Given the description of an element on the screen output the (x, y) to click on. 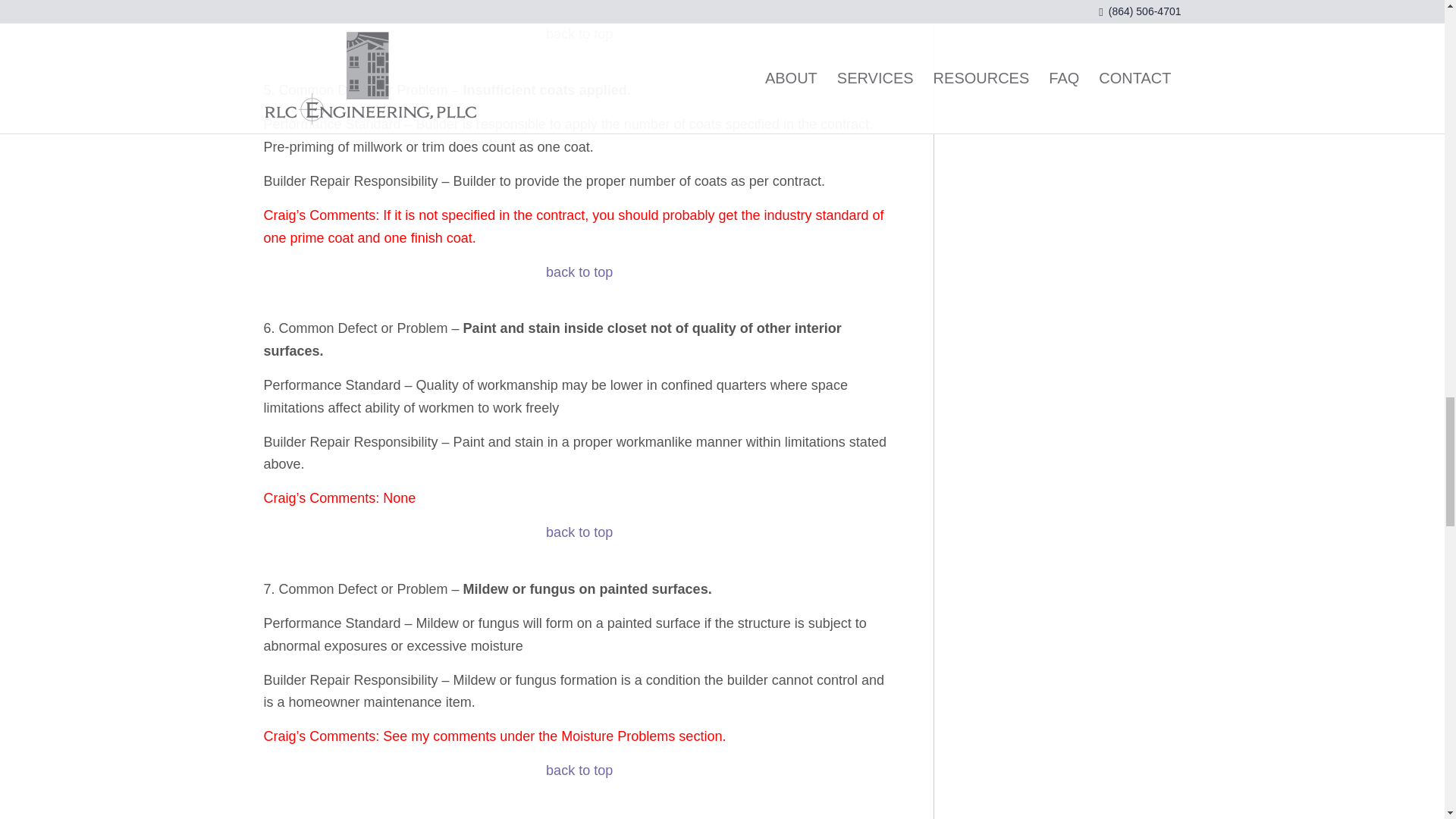
back to top (579, 272)
back to top (579, 33)
